Given the description of an element on the screen output the (x, y) to click on. 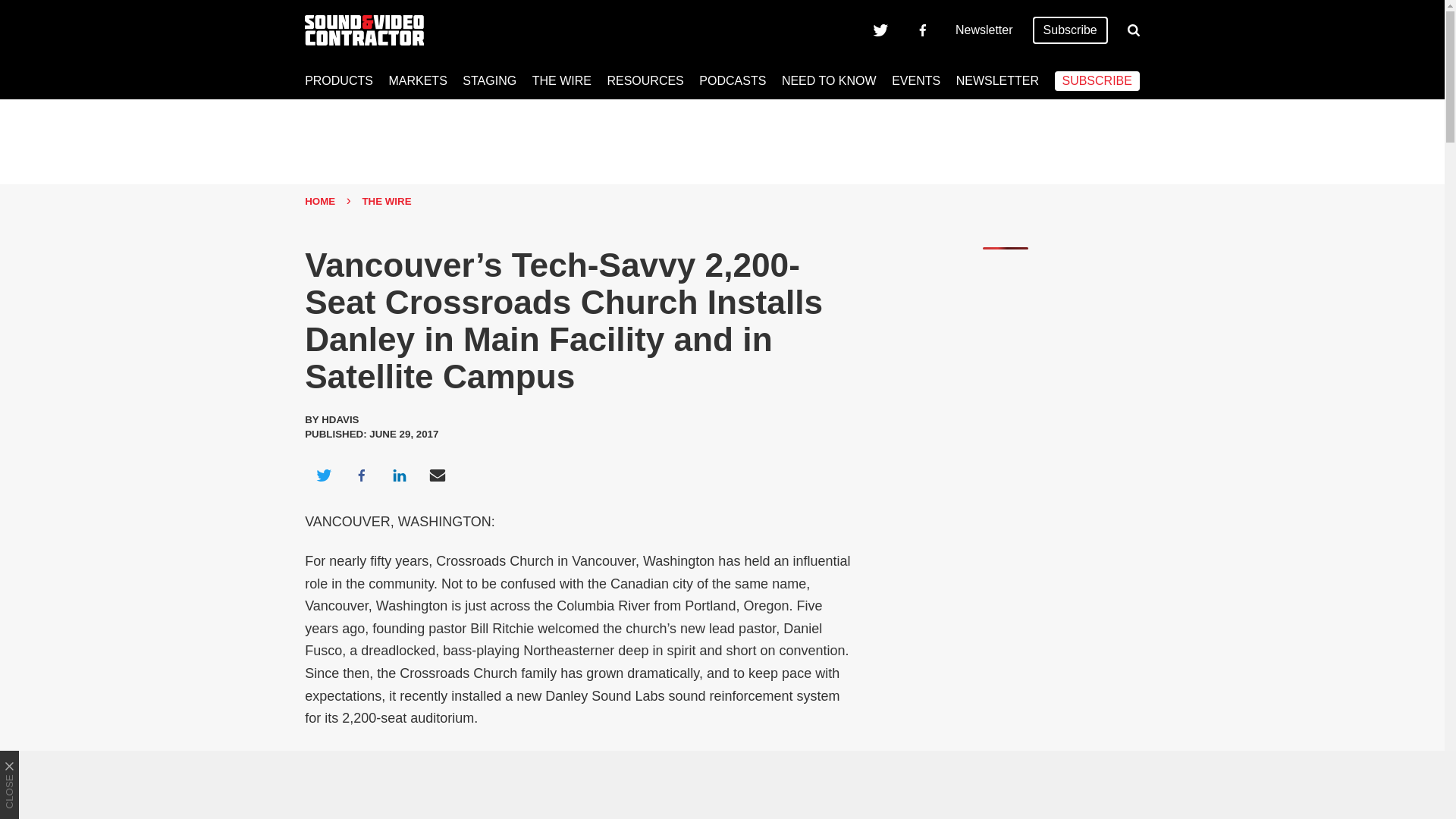
Share on LinkedIn (399, 475)
Share via Email (438, 475)
Share on Twitter (323, 475)
Share on Facebook (361, 475)
